Given the description of an element on the screen output the (x, y) to click on. 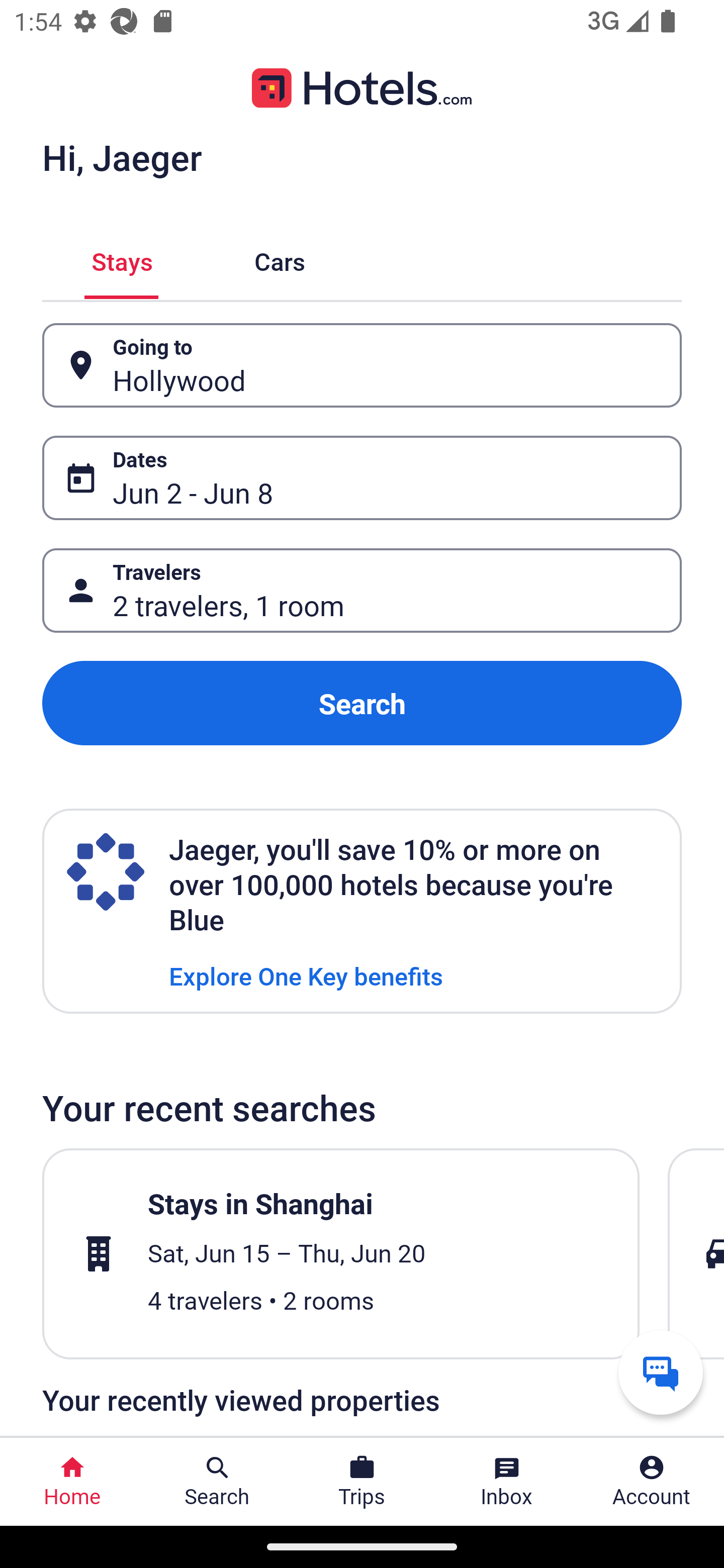
Hi, Jaeger (121, 156)
Cars (279, 259)
Going to Button Hollywood (361, 365)
Dates Button Jun 2 - Jun 8 (361, 477)
Travelers Button 2 travelers, 1 room (361, 590)
Search (361, 702)
Get help from a virtual agent (660, 1371)
Search Search Button (216, 1481)
Trips Trips Button (361, 1481)
Inbox Inbox Button (506, 1481)
Account Profile. Button (651, 1481)
